Given the description of an element on the screen output the (x, y) to click on. 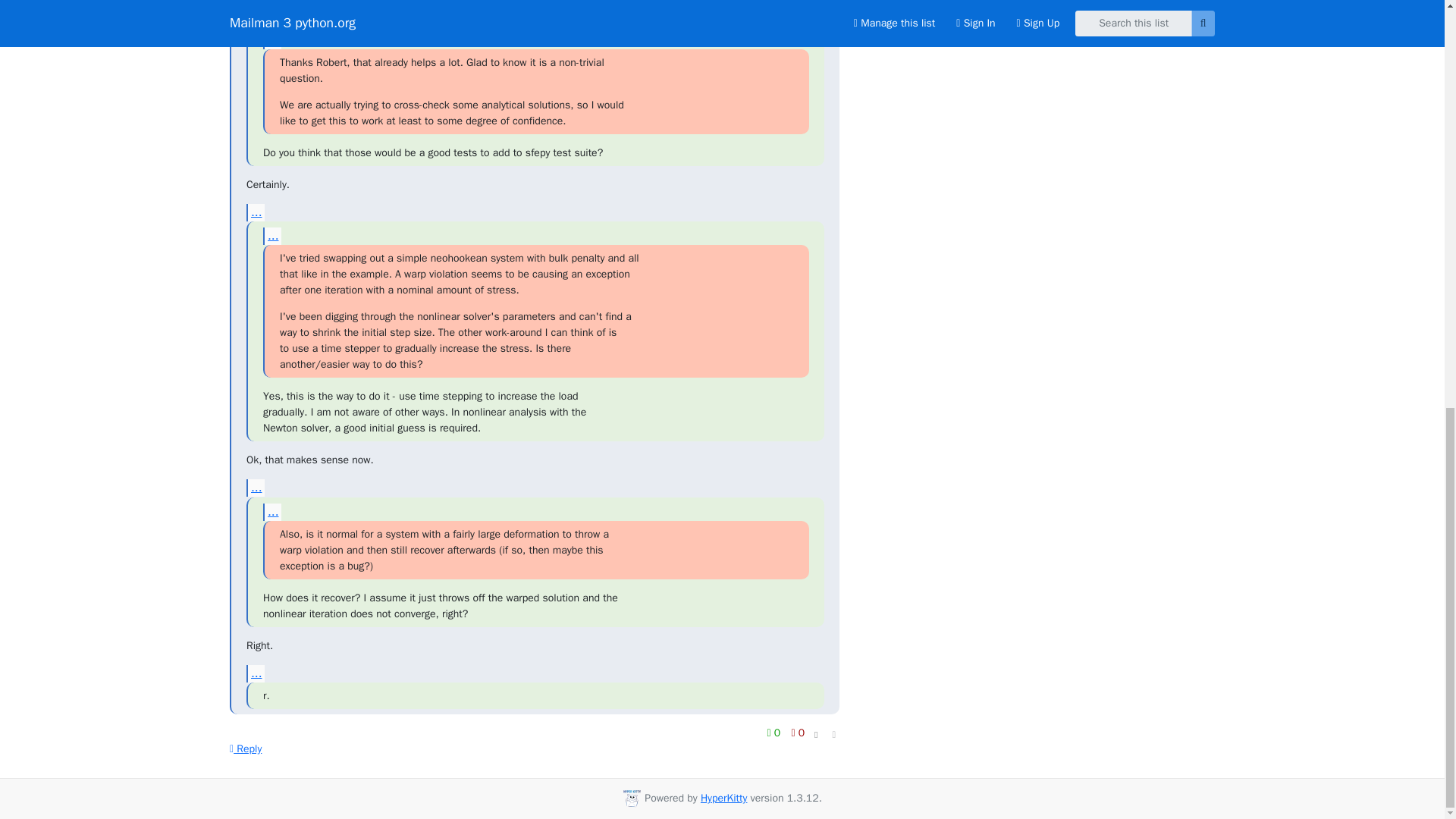
... (272, 40)
HyperKitty (724, 797)
Reply (246, 748)
0 (774, 732)
... (272, 235)
Reply (246, 748)
... (255, 673)
0 (797, 732)
You must be logged-in to vote. (774, 732)
... (255, 487)
